Given the description of an element on the screen output the (x, y) to click on. 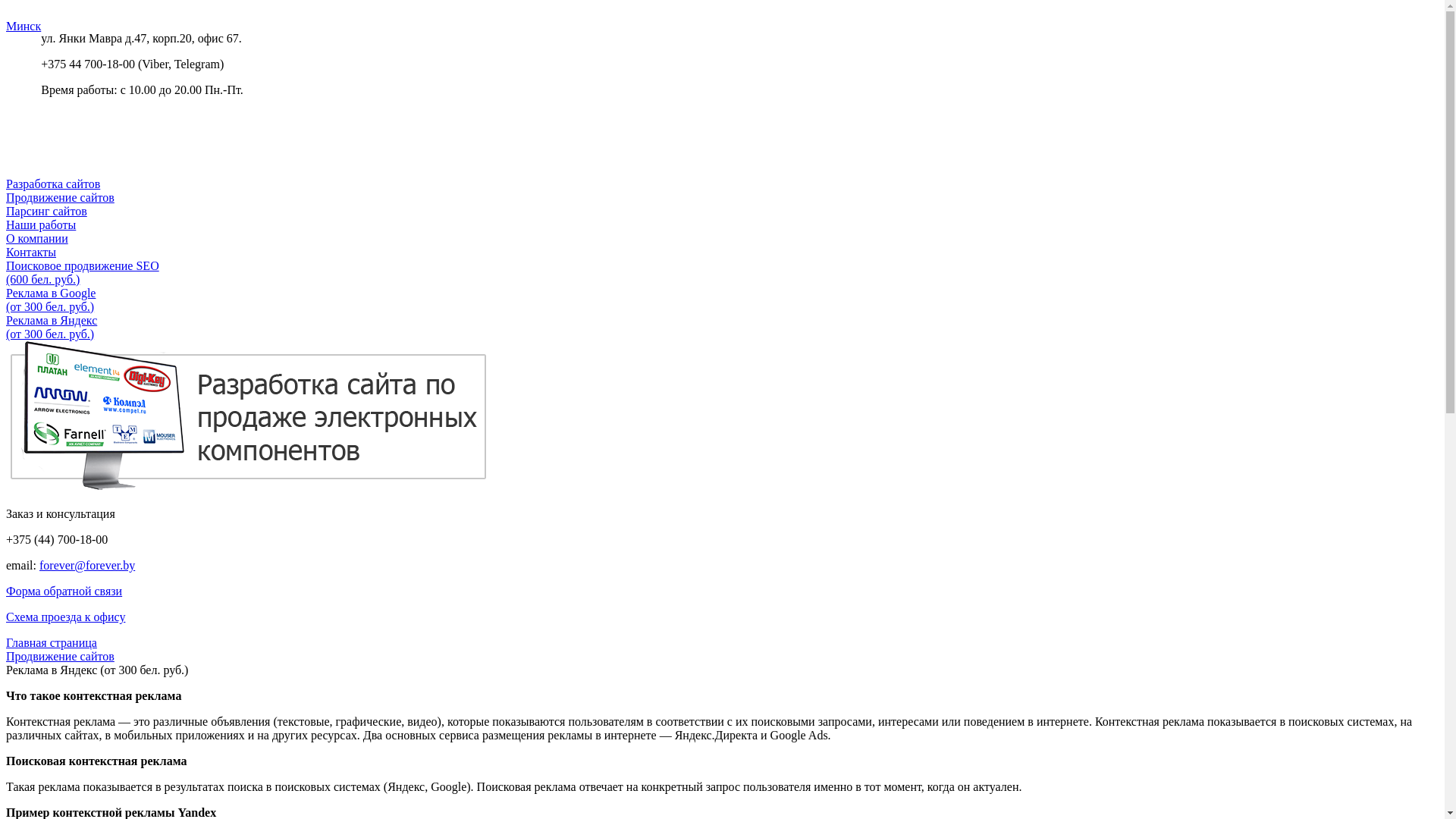
forever@forever.by Element type: text (86, 564)
